Given the description of an element on the screen output the (x, y) to click on. 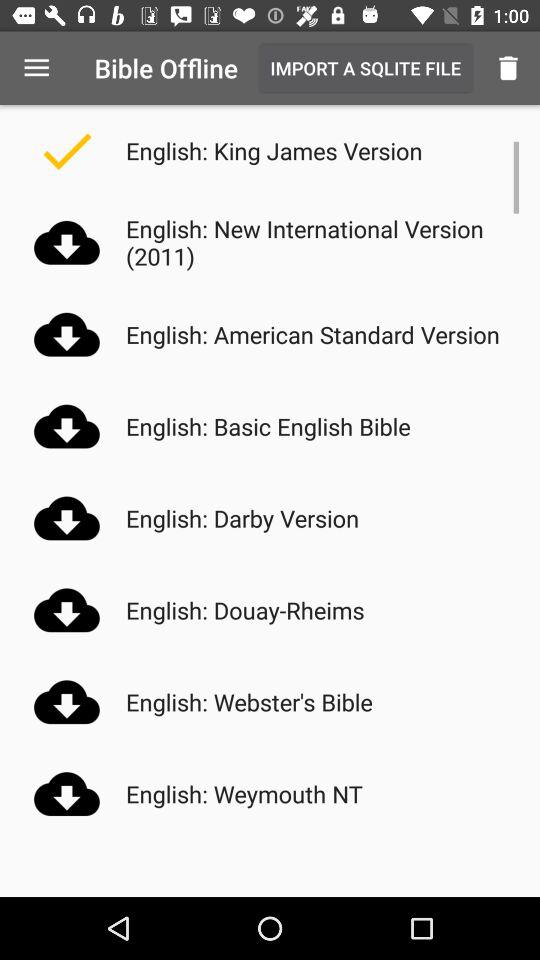
tap the item next to bible offline item (36, 68)
